Given the description of an element on the screen output the (x, y) to click on. 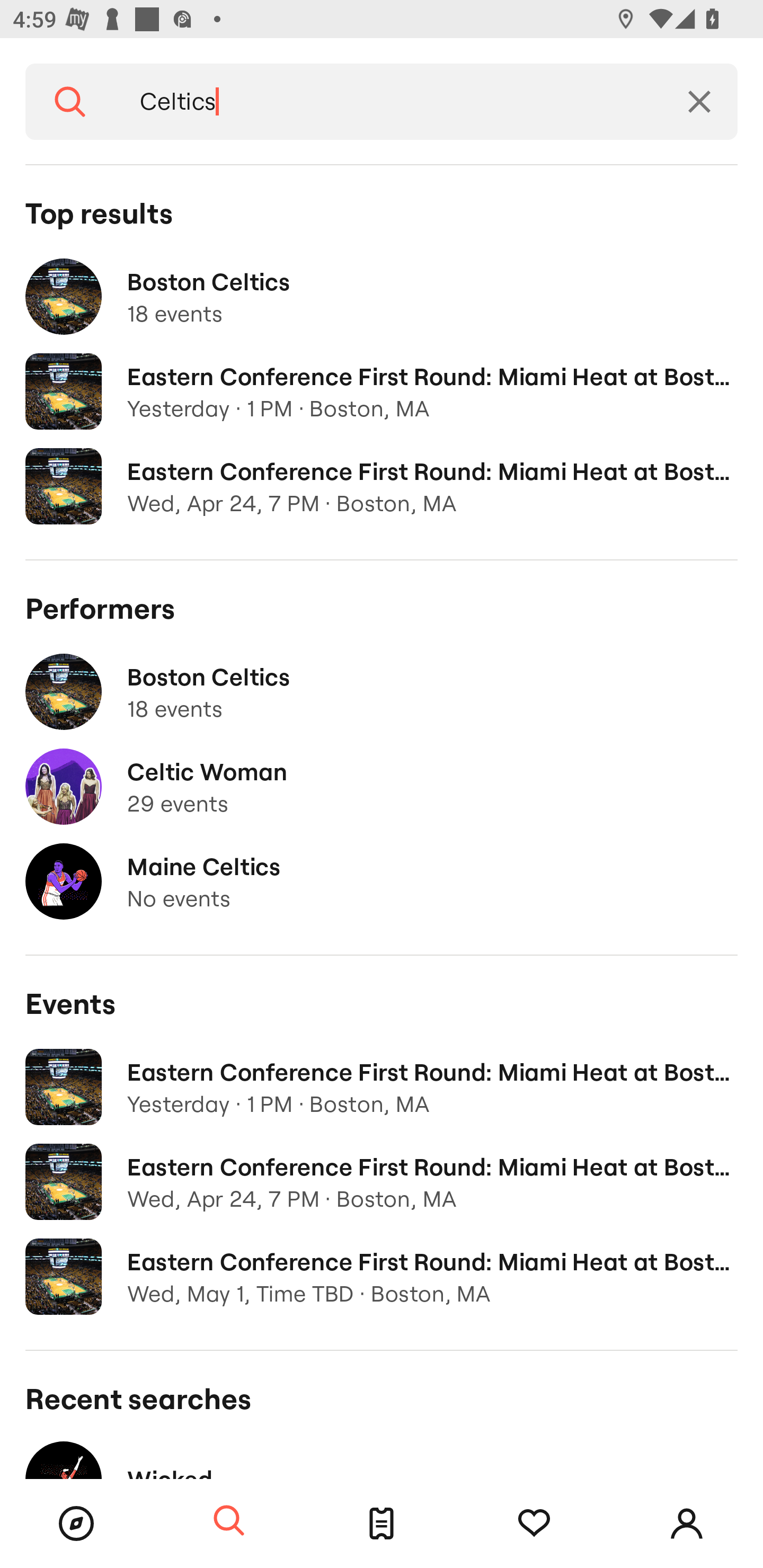
Search (69, 101)
Celtics (387, 101)
Clear (699, 101)
Boston Celtics 18 events (381, 296)
Boston Celtics 18 events (381, 692)
Celtic Woman 29 events (381, 787)
Maine Celtics No events (381, 881)
Browse (76, 1523)
Search (228, 1521)
Tickets (381, 1523)
Tracking (533, 1523)
Account (686, 1523)
